Given the description of an element on the screen output the (x, y) to click on. 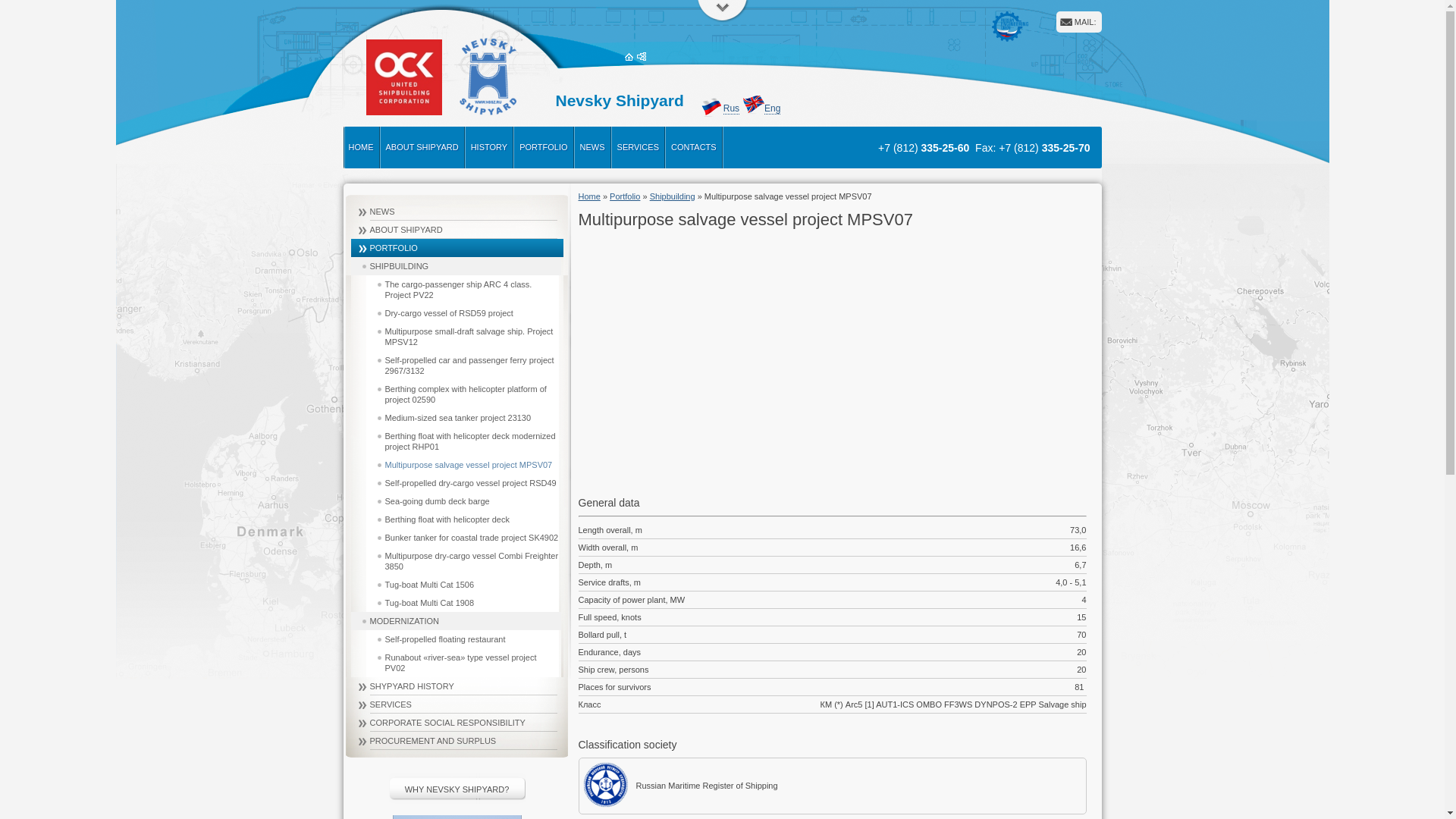
Berthing float with helicopter deck modernized project RHP01 (462, 440)
HOME (361, 146)
Multipurpose salvage vessel project MPSV07 (462, 464)
MAIL: (1085, 21)
Sea-going dumb deck barge (462, 501)
The cargo-passenger ship ARC 4 class. Project PV22 (462, 289)
HISTORY (489, 146)
Multipurpose small-draft salvage ship. Project MPSV12 (462, 336)
Bunker tanker for coastal trade project SK4902 (462, 537)
MODERNIZATION (455, 620)
ABOUT SHIPYARD (421, 146)
PORTFOLIO (543, 146)
Berthing complex with helicopter platform of project 02590 (462, 394)
NEWS (592, 146)
SERVICES (638, 146)
